Given the description of an element on the screen output the (x, y) to click on. 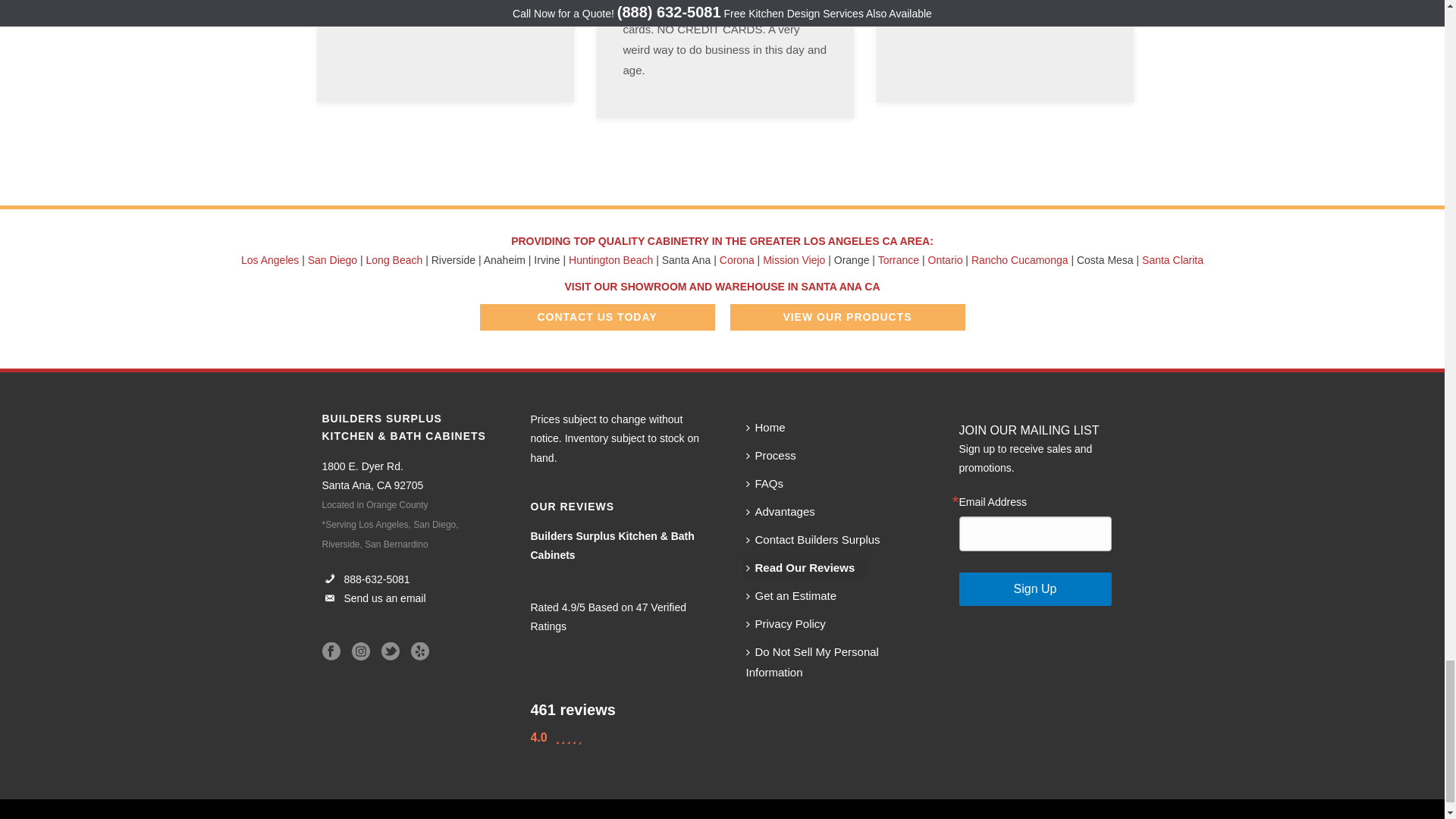
Follow Us on instagram (360, 651)
Follow Us on facebook (330, 651)
Follow Us on twitter (389, 651)
Follow Us on yelp (419, 651)
